Given the description of an element on the screen output the (x, y) to click on. 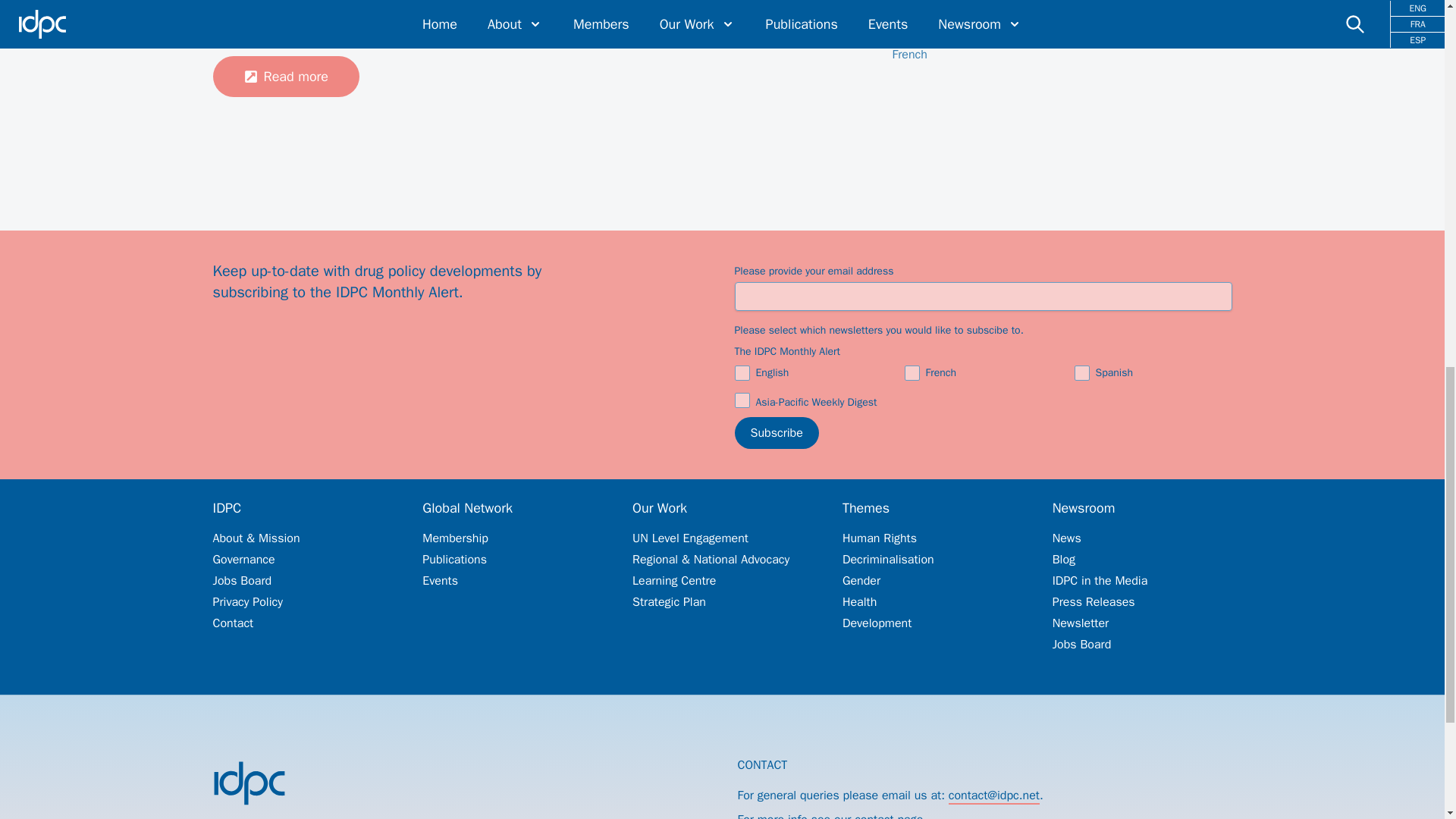
Health (932, 601)
Strategic Plan (721, 601)
Learning Centre (721, 580)
Decriminalisation (932, 559)
Jobs Board (301, 580)
on (741, 400)
on (1081, 372)
Governance (301, 559)
Contact (301, 622)
Events (512, 580)
Spanish (914, 36)
on (911, 372)
Subscribe (775, 432)
Publications (512, 559)
UN Level Engagement (721, 538)
